Given the description of an element on the screen output the (x, y) to click on. 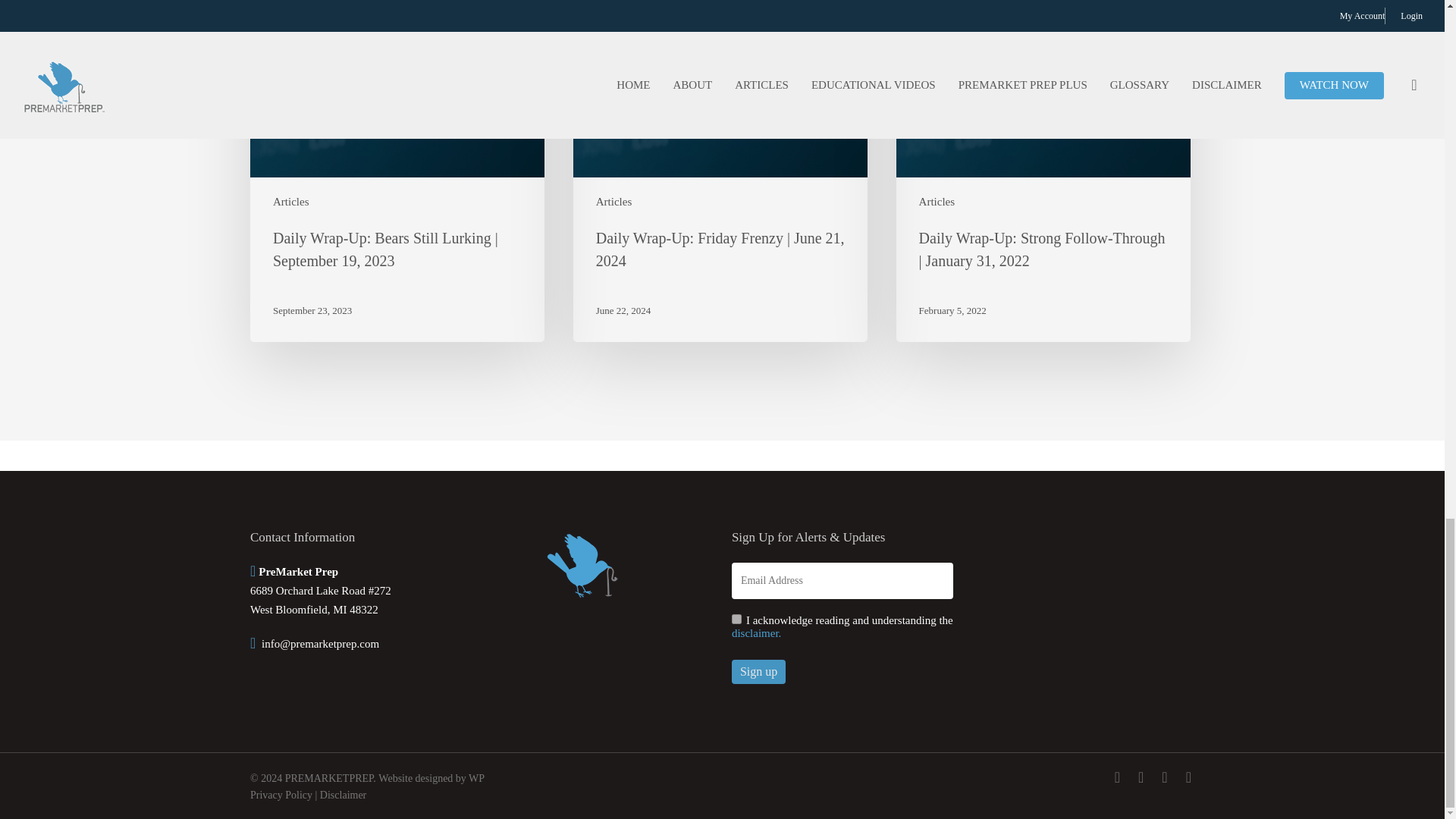
Privacy Policy (281, 794)
Disclaimer (343, 794)
Sign up (759, 671)
Articles (290, 201)
Articles (613, 201)
Sign up (759, 671)
Articles (936, 201)
1 (736, 619)
disclaimer. (756, 633)
Website designed by WP (431, 778)
